Given the description of an element on the screen output the (x, y) to click on. 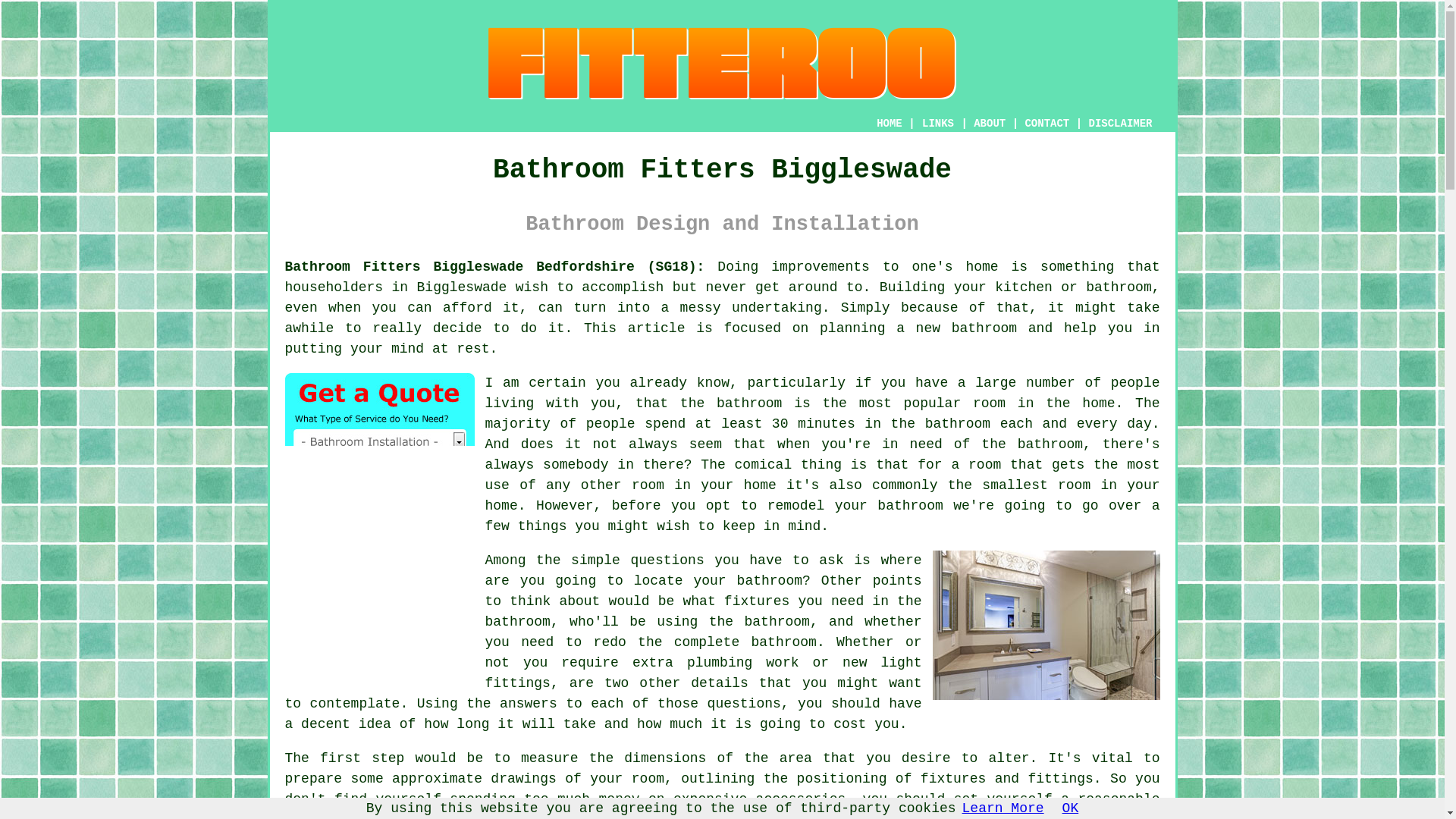
HOME (889, 123)
LINKS (938, 123)
